Given the description of an element on the screen output the (x, y) to click on. 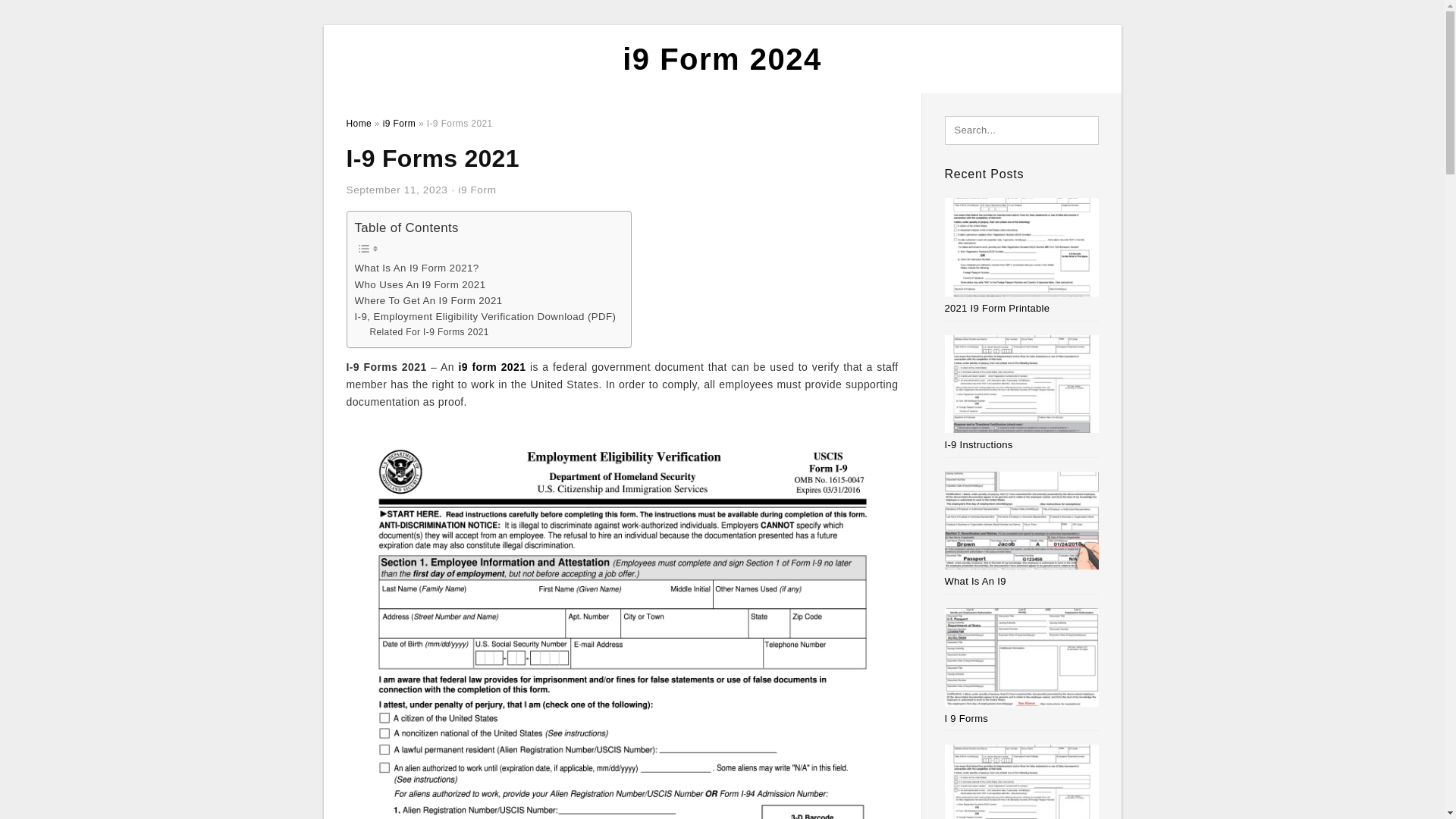
Home (358, 122)
Where To Get An I9 Form 2021 (428, 300)
Who Uses An I9 Form 2021 (420, 284)
i9 Form (477, 189)
Related For I-9 Forms 2021 (428, 332)
What Is An I9 Form 2021? (417, 268)
Where To Get An I9 Form 2021 (428, 300)
What Is An I9 Form 2021? (417, 268)
Related For I-9 Forms 2021 (428, 332)
